Given the description of an element on the screen output the (x, y) to click on. 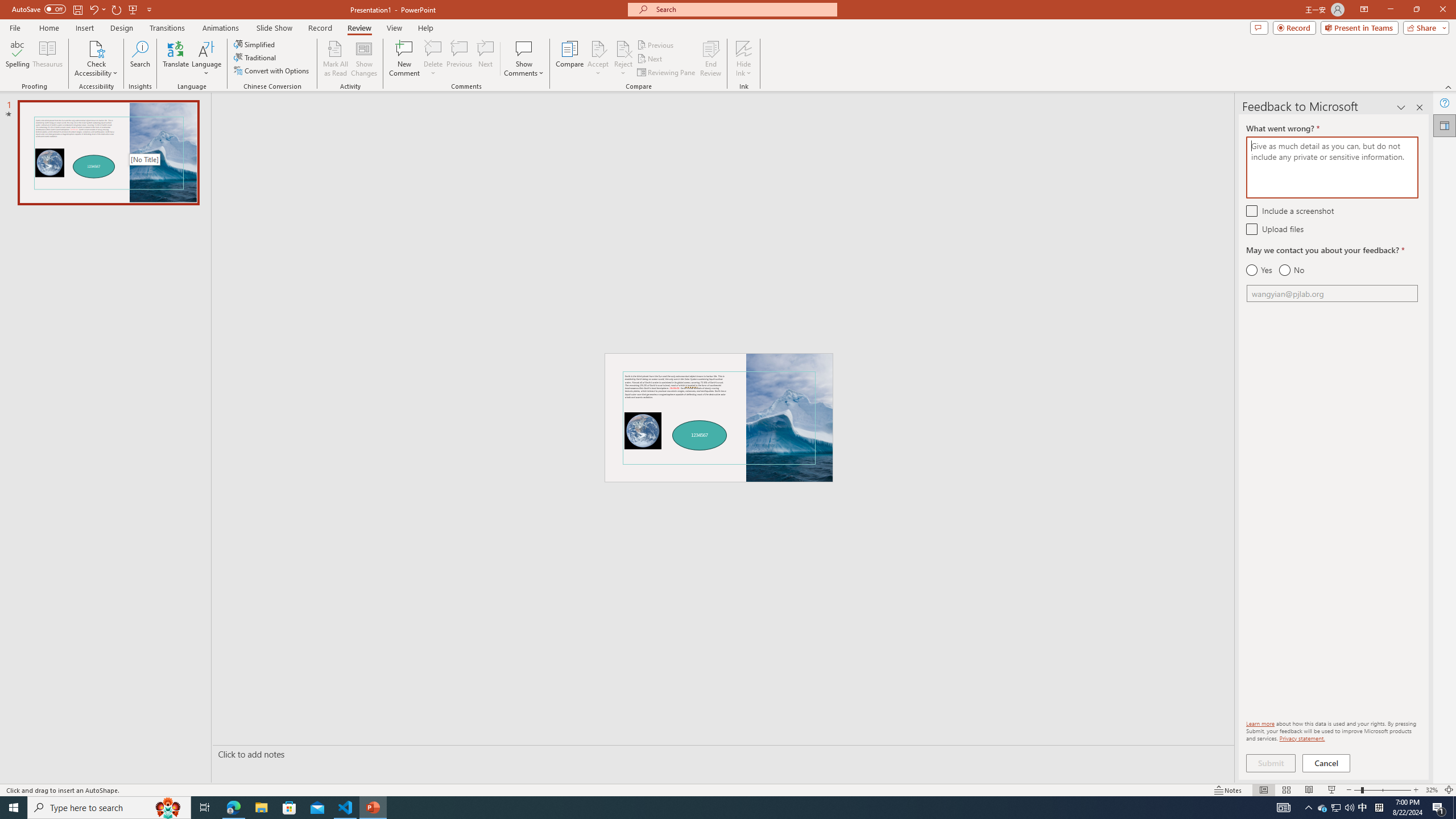
Yes (1259, 269)
Privacy statement. (1301, 738)
What went wrong? * (1332, 167)
Submit (1270, 763)
No (1291, 269)
